Given the description of an element on the screen output the (x, y) to click on. 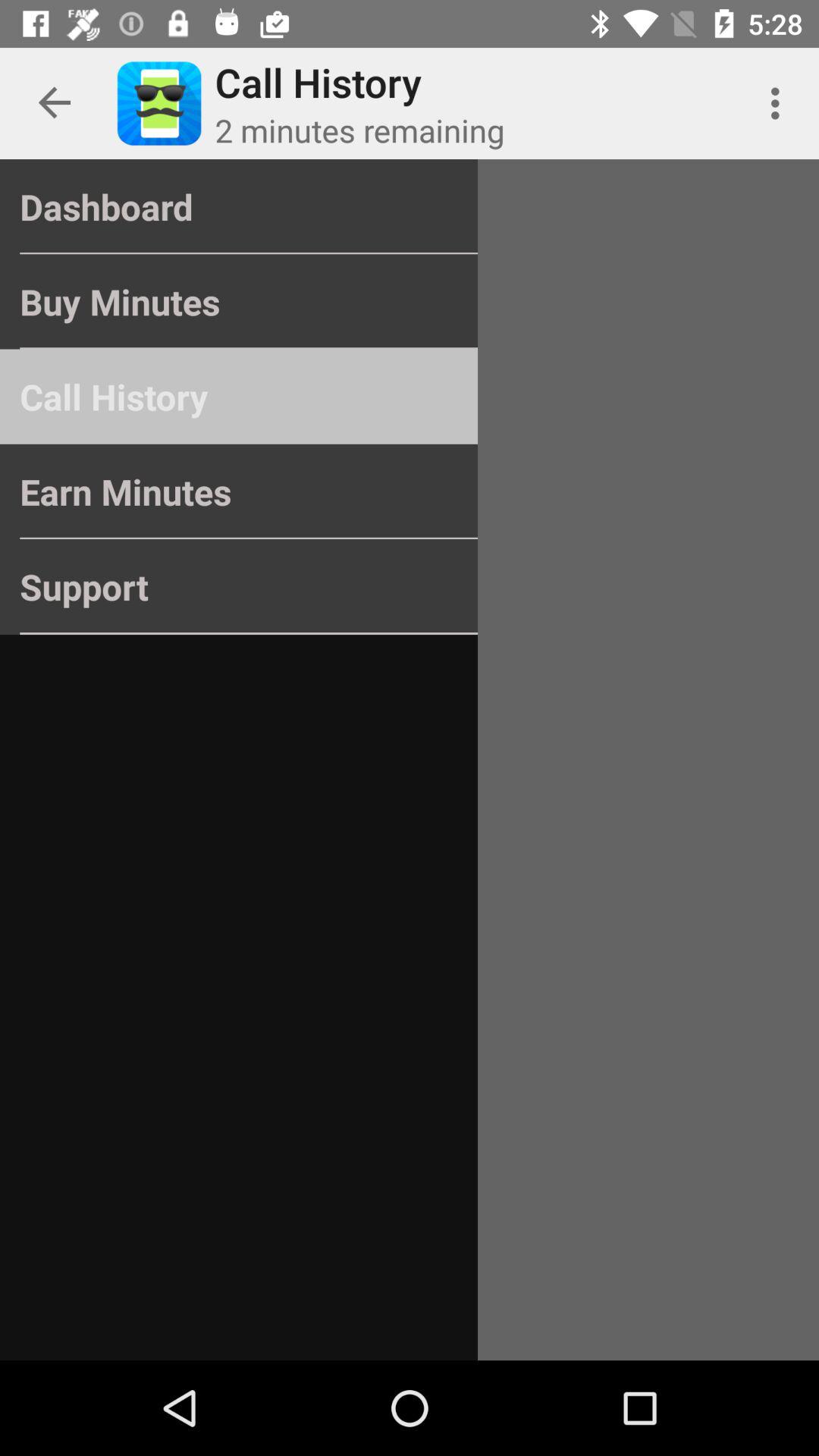
select item below the earn minutes item (238, 586)
